Given the description of an element on the screen output the (x, y) to click on. 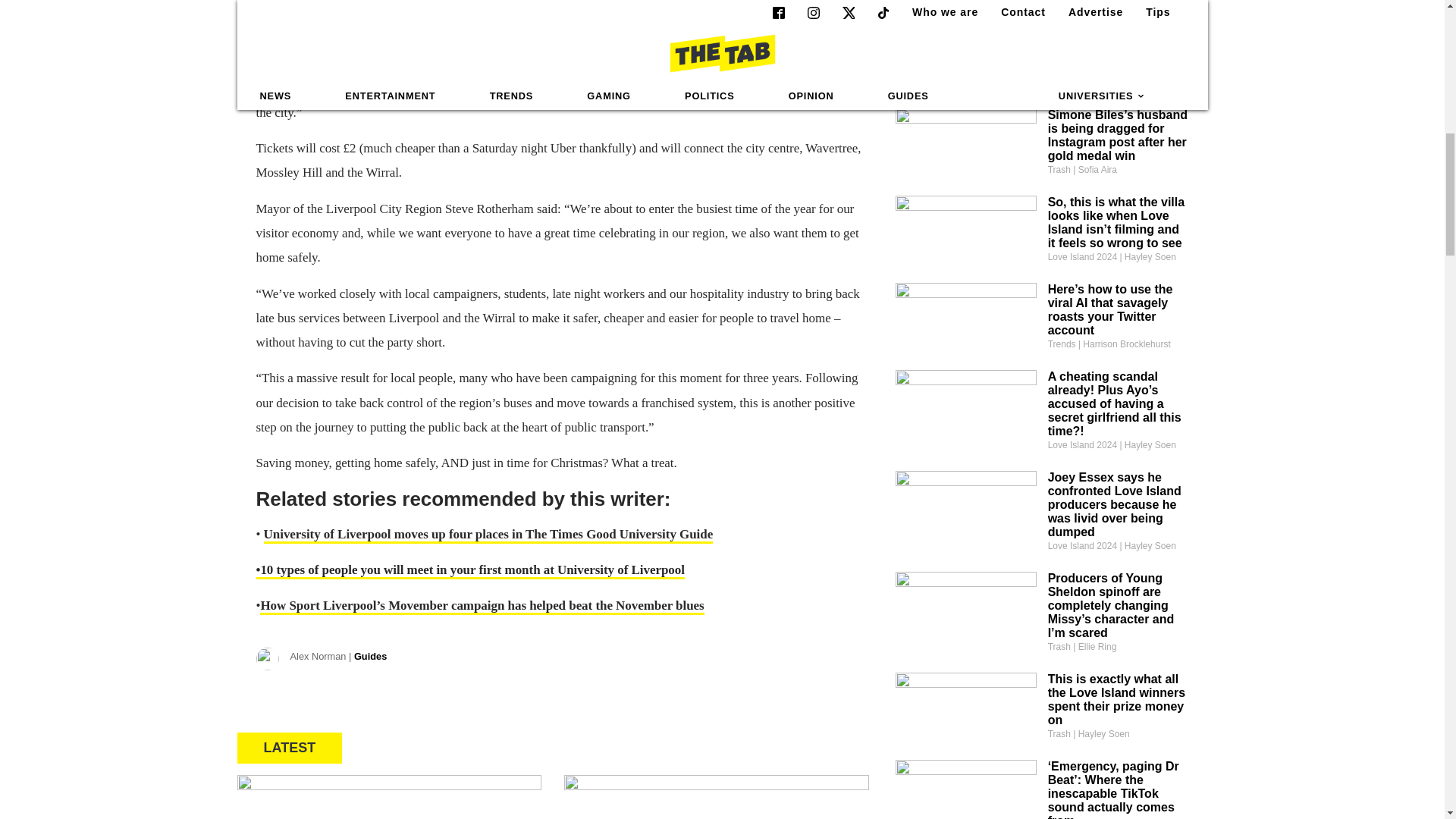
Posts by Alex Norman (338, 656)
